Given the description of an element on the screen output the (x, y) to click on. 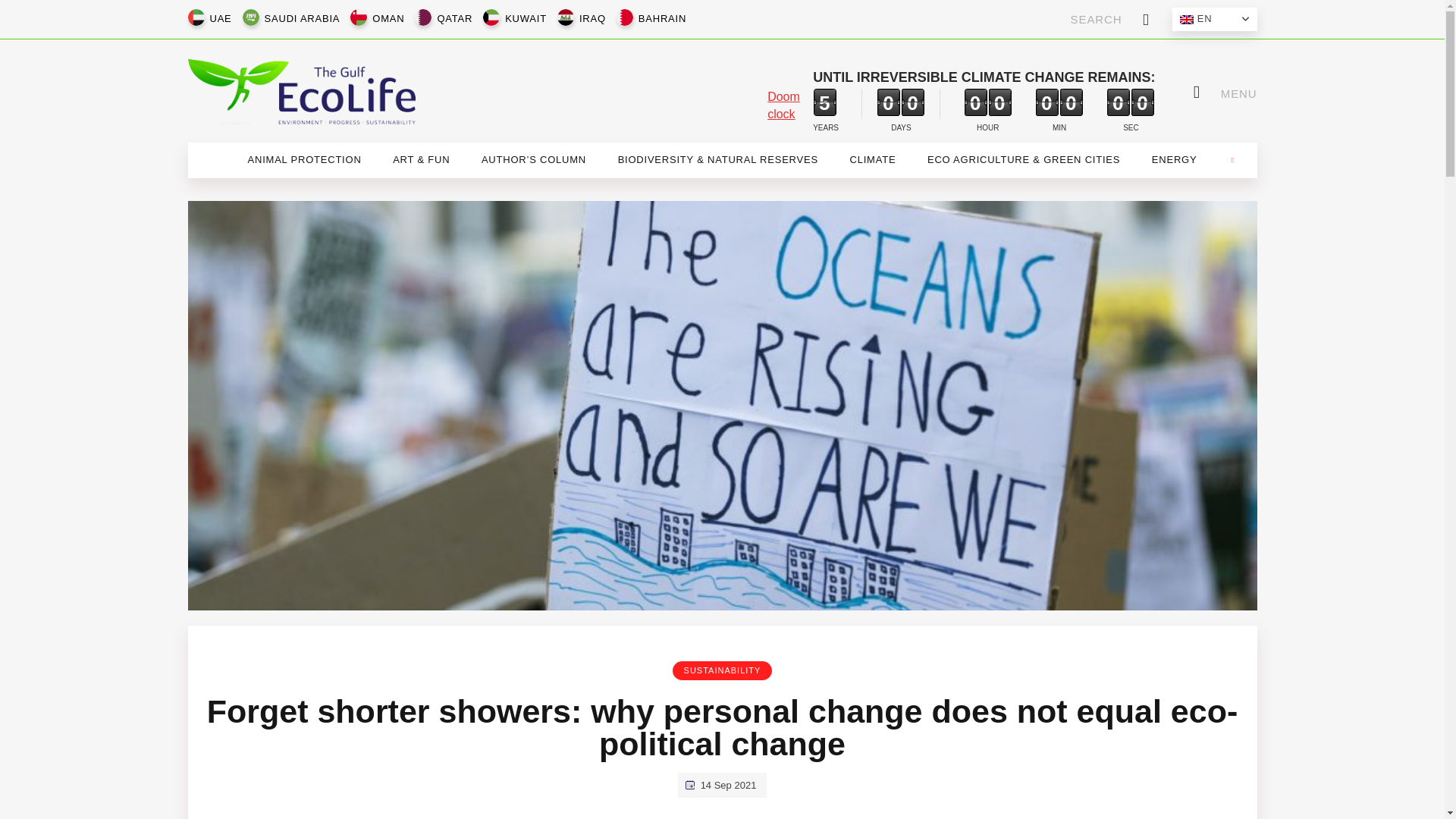
QATAR (454, 19)
BAHRAIN (662, 19)
IRAQ (592, 19)
OMAN (388, 19)
SAUDI ARABIA (302, 19)
UAE (220, 19)
SEARCH (1110, 19)
KUWAIT (525, 19)
